Given the description of an element on the screen output the (x, y) to click on. 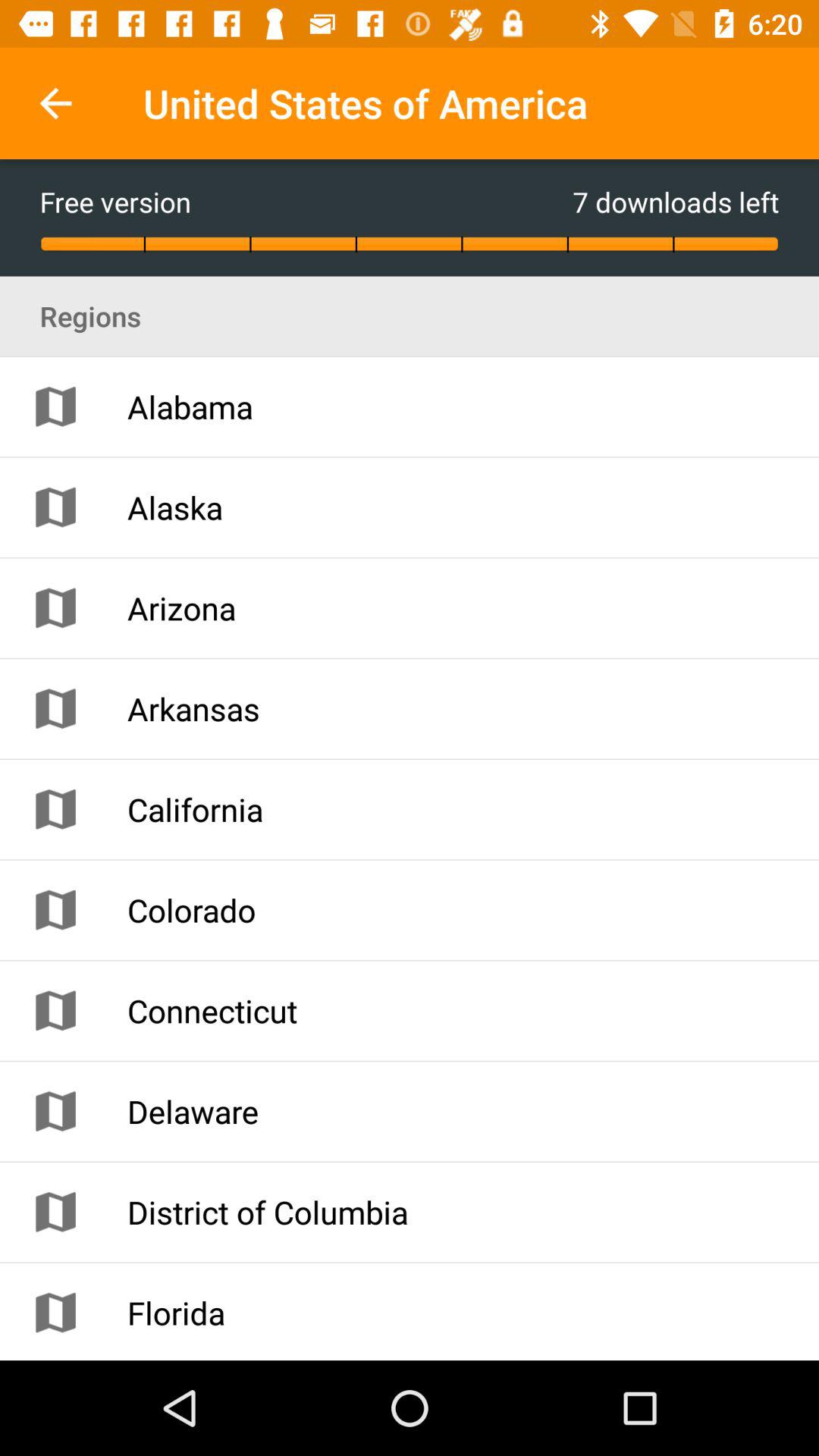
select the icon above free version icon (55, 103)
